Given the description of an element on the screen output the (x, y) to click on. 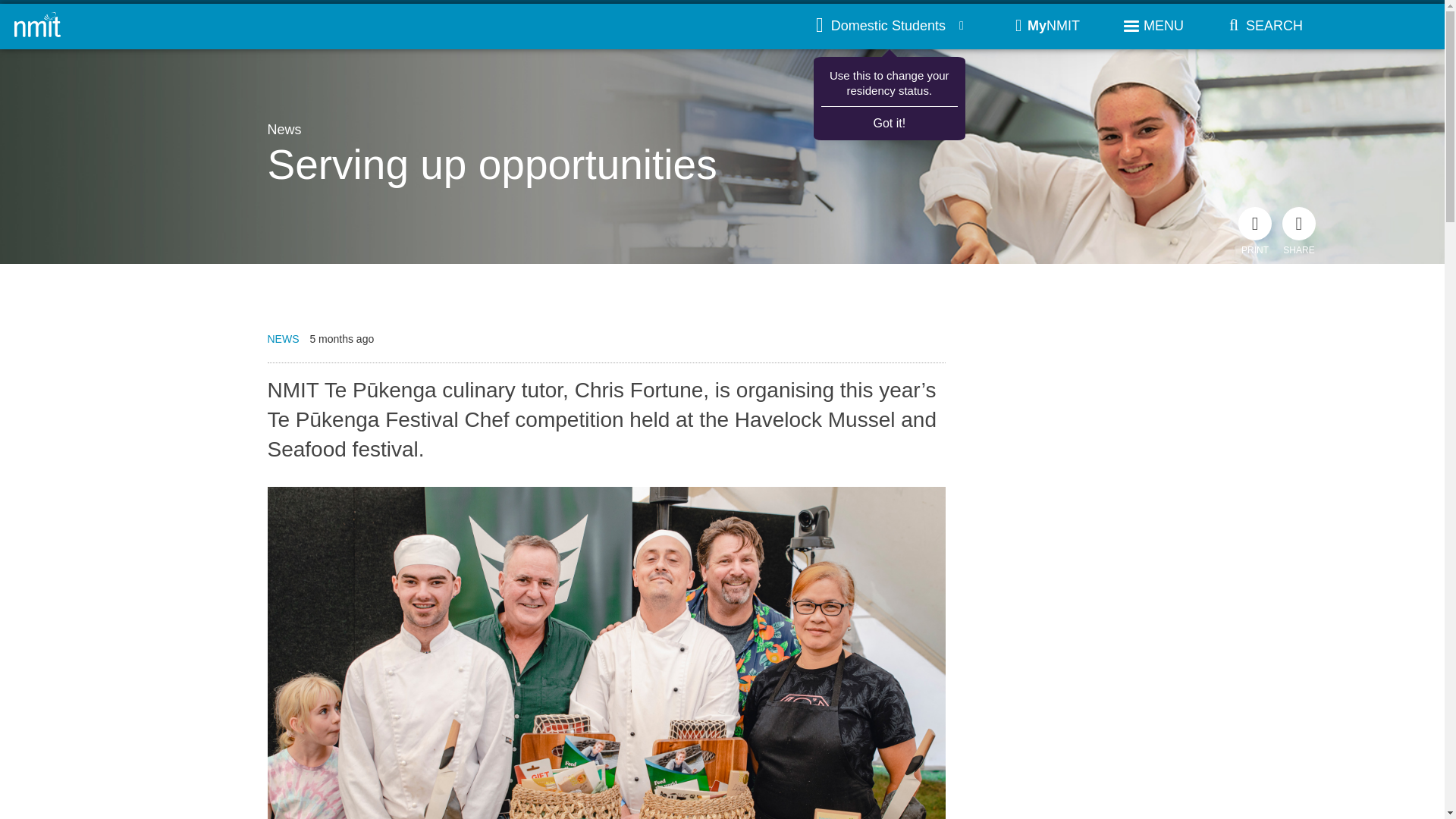
SEARCH (1261, 26)
Domestic Students (889, 26)
MyNMIT (1047, 26)
MENU (1152, 26)
NMIT - link to home page (37, 26)
